Given the description of an element on the screen output the (x, y) to click on. 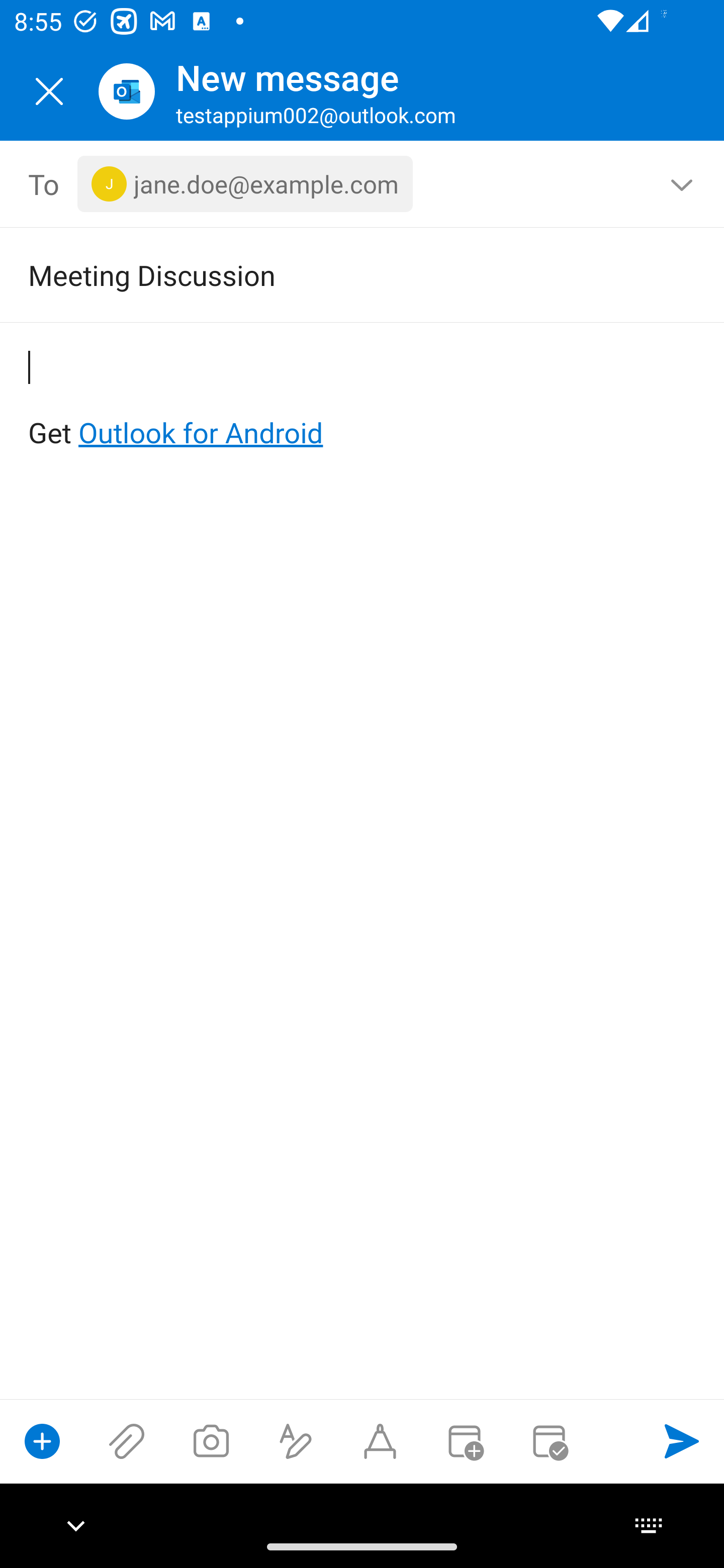
Close (49, 91)
To, 1 recipient <jane.doe@example.com> (362, 184)
Meeting Discussion (333, 274)
Show compose options (42, 1440)
Attach files (126, 1440)
Take a photo (210, 1440)
Show formatting options (295, 1440)
Start Ink compose (380, 1440)
Convert to event (464, 1440)
Send availability (548, 1440)
Send (681, 1440)
